Given the description of an element on the screen output the (x, y) to click on. 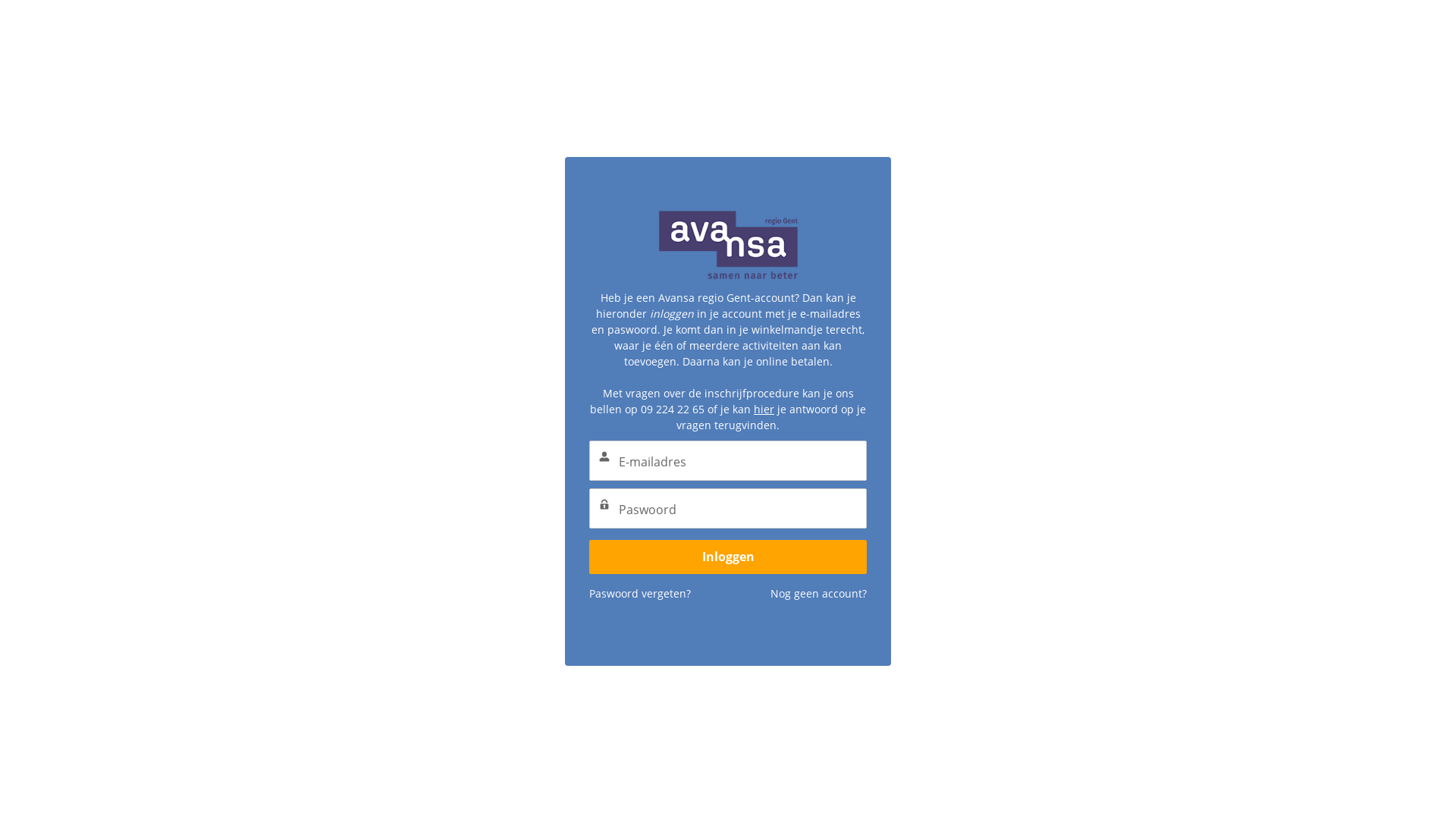
Inloggen Element type: text (727, 528)
Paswoord vergeten? Element type: text (639, 565)
hier Element type: text (763, 380)
Nog geen account? Element type: text (818, 565)
